Given the description of an element on the screen output the (x, y) to click on. 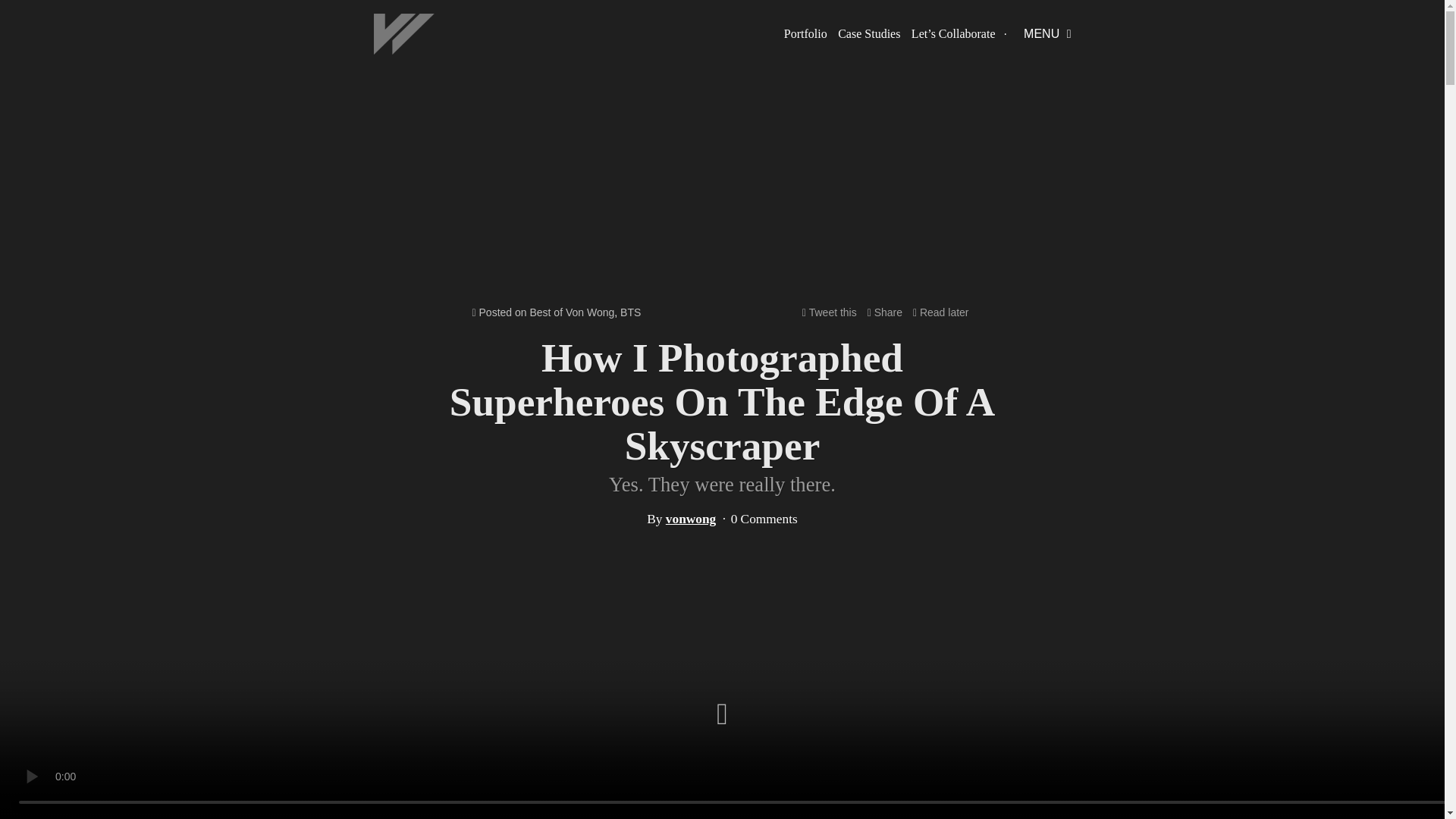
Best of Von Wong (571, 312)
How I Photographed Superheroes On The Edge Of A Skyscraper (721, 484)
vonwong (690, 518)
0 Comments (763, 518)
Portfolio (805, 34)
Case Studies (868, 34)
How I Photographed Superheroes On The Edge Of A Skyscraper (721, 401)
BTS (630, 312)
How I Photographed Superheroes On The Edge Of A Skyscraper (721, 401)
Yes. They were really there. (721, 484)
